Given the description of an element on the screen output the (x, y) to click on. 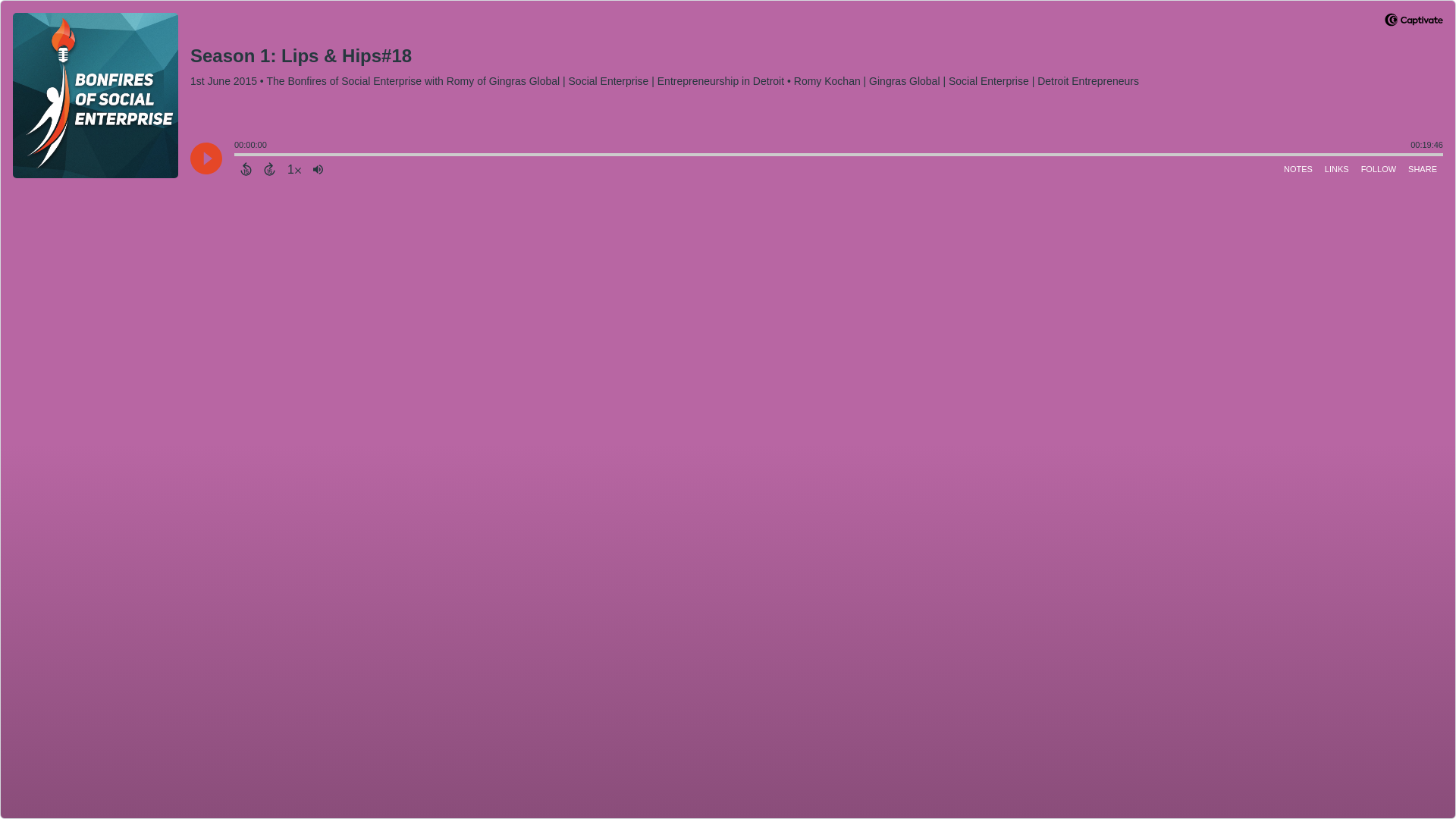
LINKS (1337, 168)
SHARE (1422, 168)
FOLLOW (1378, 168)
NOTES (1298, 168)
1 (294, 168)
